Given the description of an element on the screen output the (x, y) to click on. 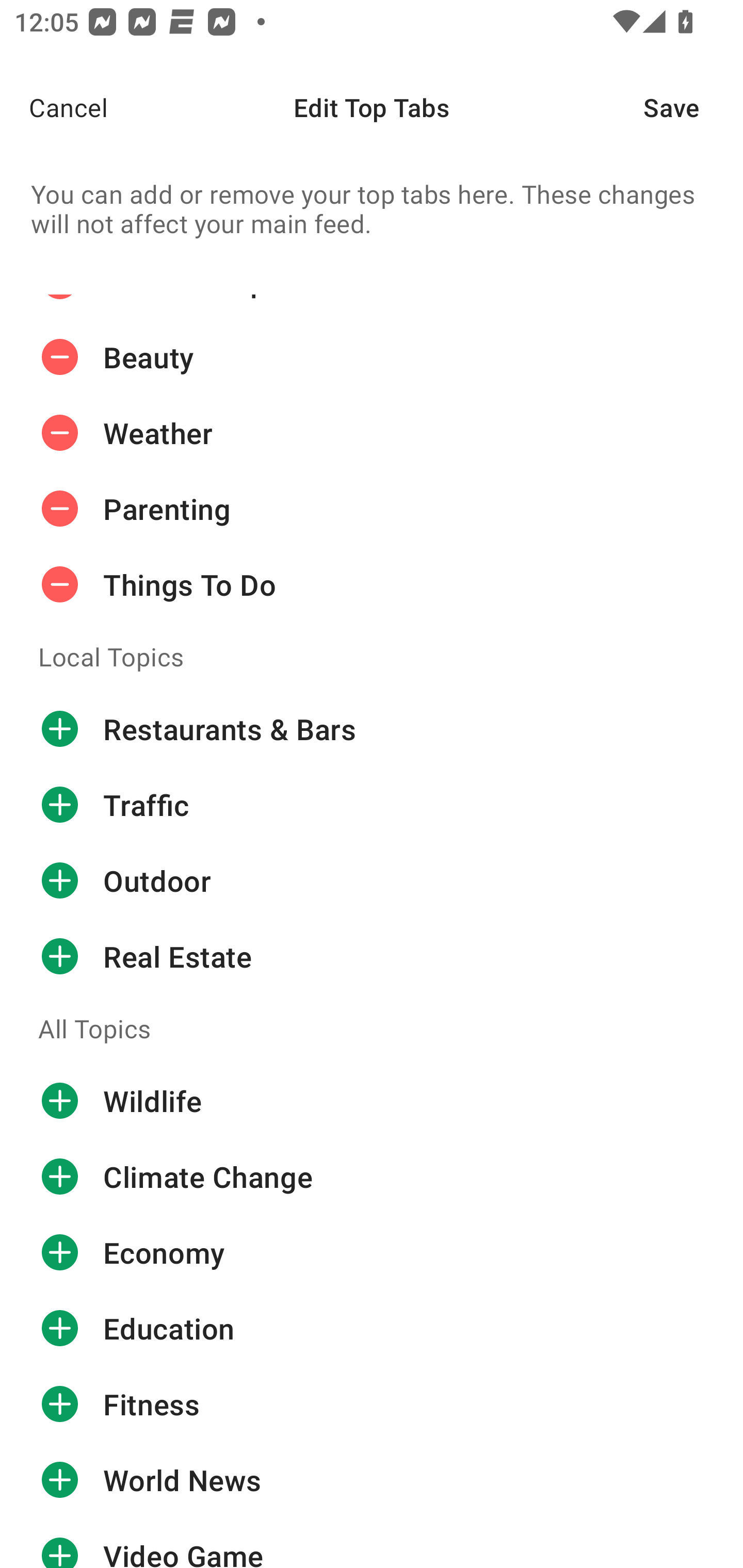
Cancel (53, 106)
Save (693, 106)
Beauty (371, 357)
Weather (371, 432)
Parenting (371, 508)
Things To Do (371, 584)
Restaurants & Bars (371, 728)
Traffic (371, 804)
Outdoor (371, 880)
Real Estate (371, 956)
Wildlife (371, 1100)
Climate Change (371, 1176)
Economy (371, 1252)
Education (371, 1327)
Fitness (371, 1403)
World News (371, 1479)
Video Game (371, 1542)
